Given the description of an element on the screen output the (x, y) to click on. 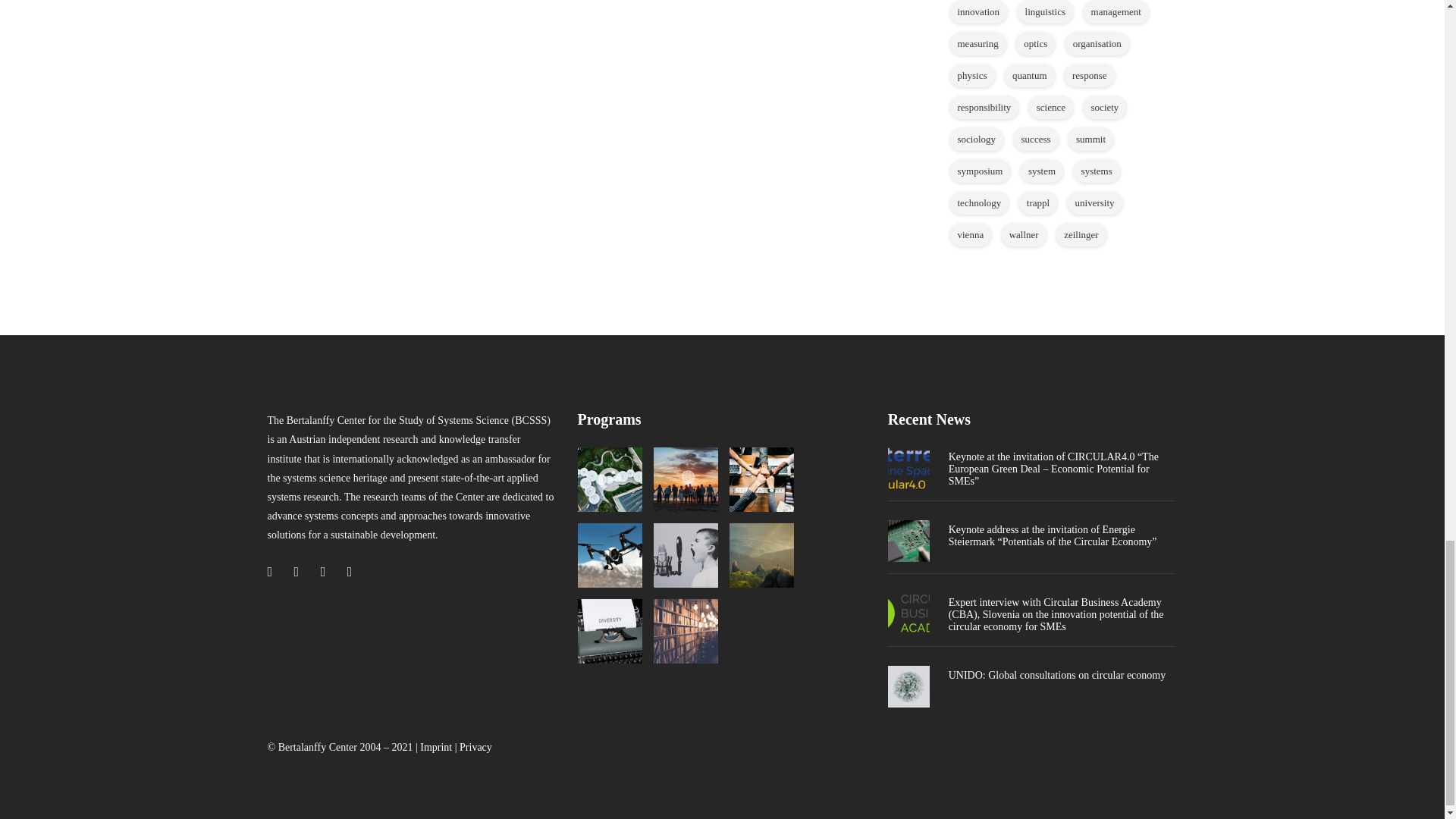
Circular Economy Forum Austria (610, 479)
Young Scientists and Researcher Awards (685, 555)
European Meetings on Cybernetics and Systems Research (610, 555)
Ecocivilisation (685, 479)
Transdisciplinarity Lab (761, 479)
International Encyclopedia of Systems and Cybernetics (610, 630)
Systems Philosophy Lab (761, 555)
